Given the description of an element on the screen output the (x, y) to click on. 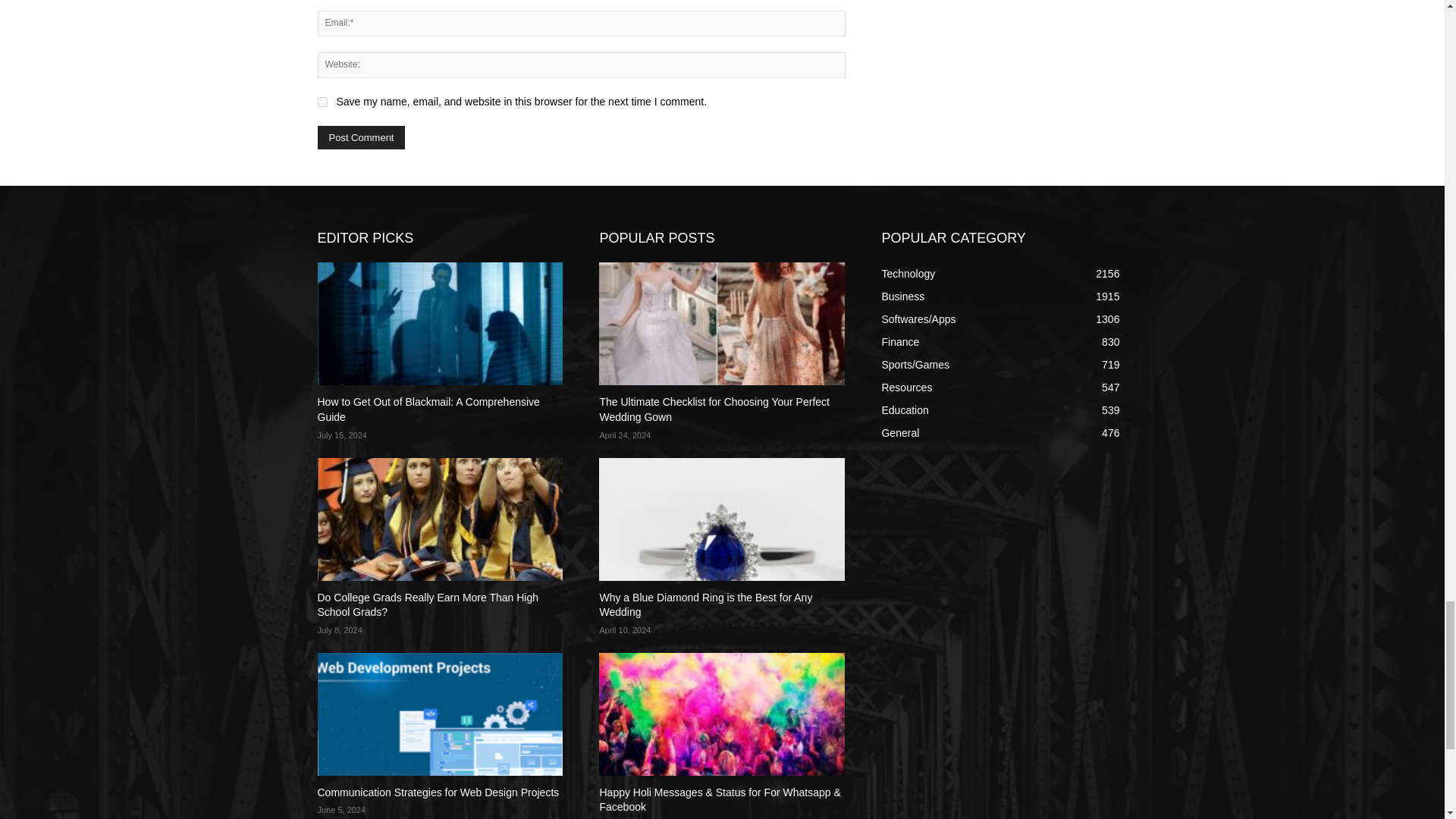
yes (321, 102)
Post Comment (360, 137)
